Given the description of an element on the screen output the (x, y) to click on. 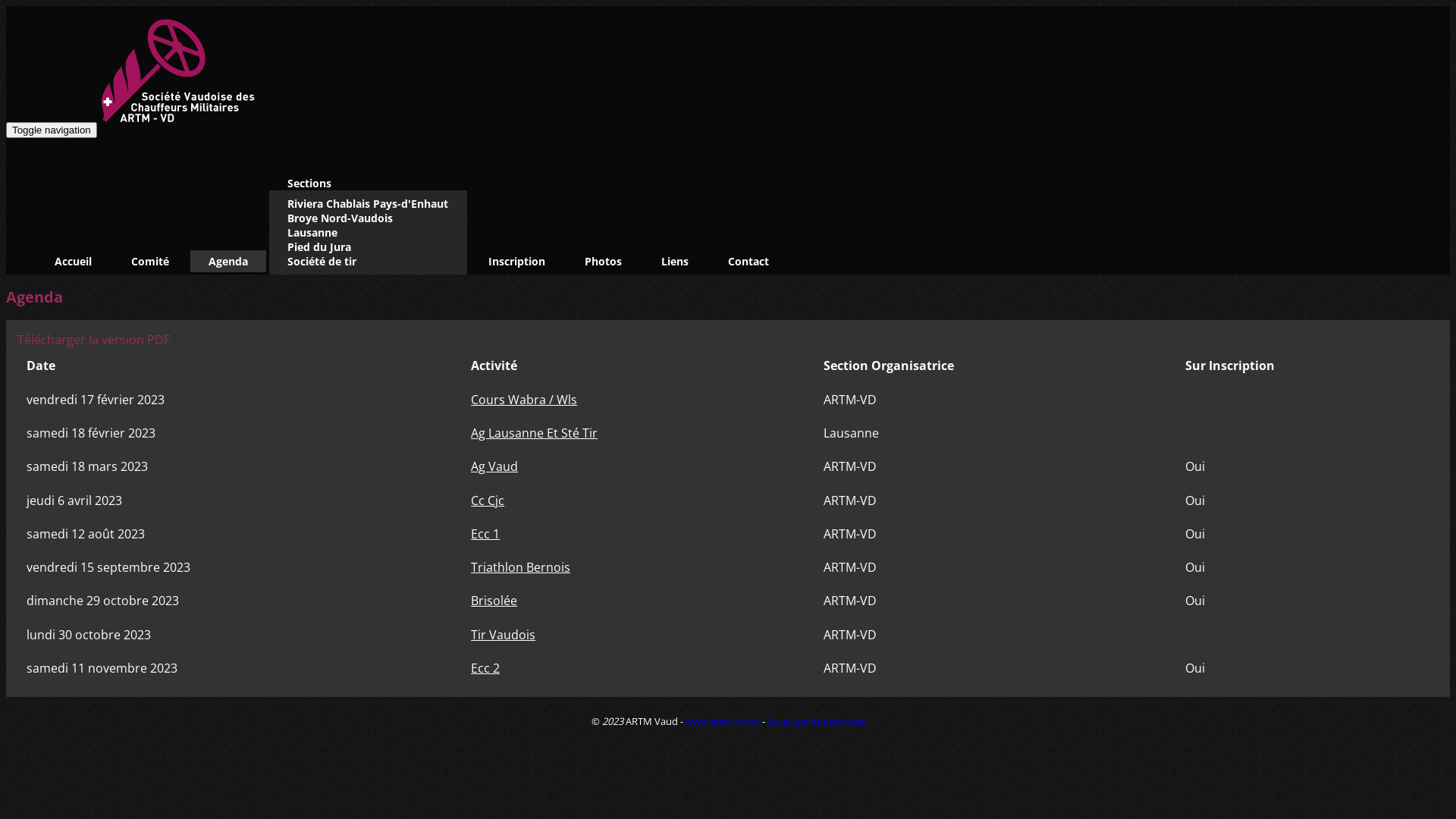
Lausanne Element type: text (312, 232)
Ag Vaud Element type: text (493, 466)
Toggle navigation Element type: text (51, 130)
www.artm-vd.ch Element type: text (722, 721)
Tir Vaudois Element type: text (502, 634)
Cc Cjc Element type: text (487, 500)
Triathlon Bernois Element type: text (520, 566)
Photos Element type: text (603, 261)
Pied du Jura Element type: text (319, 246)
Ecc 2 Element type: text (484, 667)
Liens Element type: text (674, 261)
Inscription Element type: text (516, 261)
Riviera Chablais Pays-d'Enhaut Element type: text (367, 203)
Sections Element type: text (309, 183)
Ecc 1 Element type: text (484, 533)
Broye Nord-Vaudois Element type: text (340, 218)
Contact Element type: text (748, 261)
Agenda Element type: text (228, 261)
Accueil Element type: text (72, 261)
Cours Wabra / Wls Element type: text (523, 399)
